Given the description of an element on the screen output the (x, y) to click on. 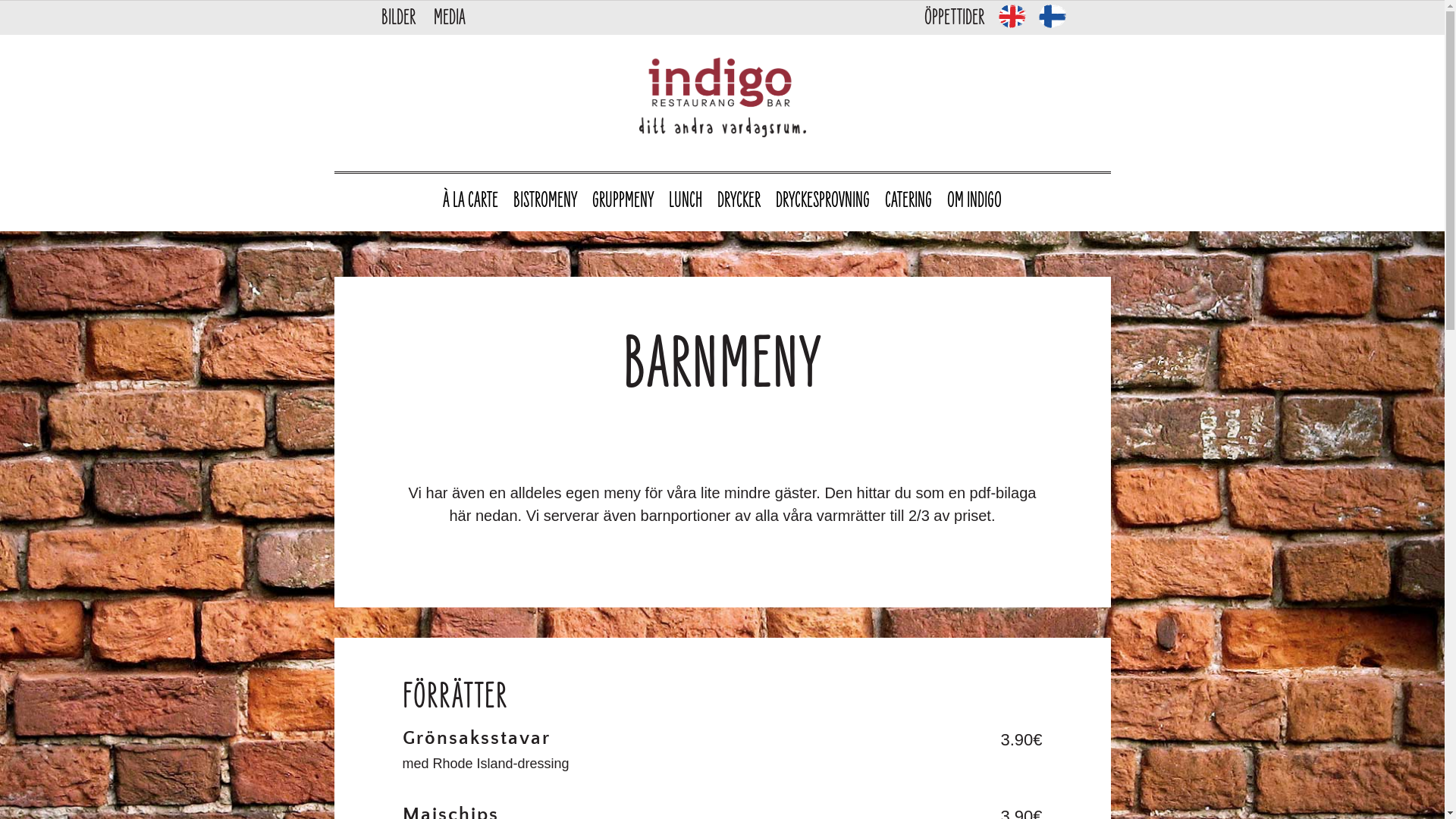
OM INDIGO Element type: text (974, 201)
Hemsida Element type: hover (721, 97)
GRUPPMENY Element type: text (622, 201)
CATERING Element type: text (907, 201)
BILDER Element type: text (397, 17)
DRYCKER Element type: text (738, 201)
BISTROMENY Element type: text (545, 201)
MEDIA Element type: text (449, 17)
LUNCH Element type: text (685, 201)
DRYCKESPROVNING Element type: text (822, 201)
